Given the description of an element on the screen output the (x, y) to click on. 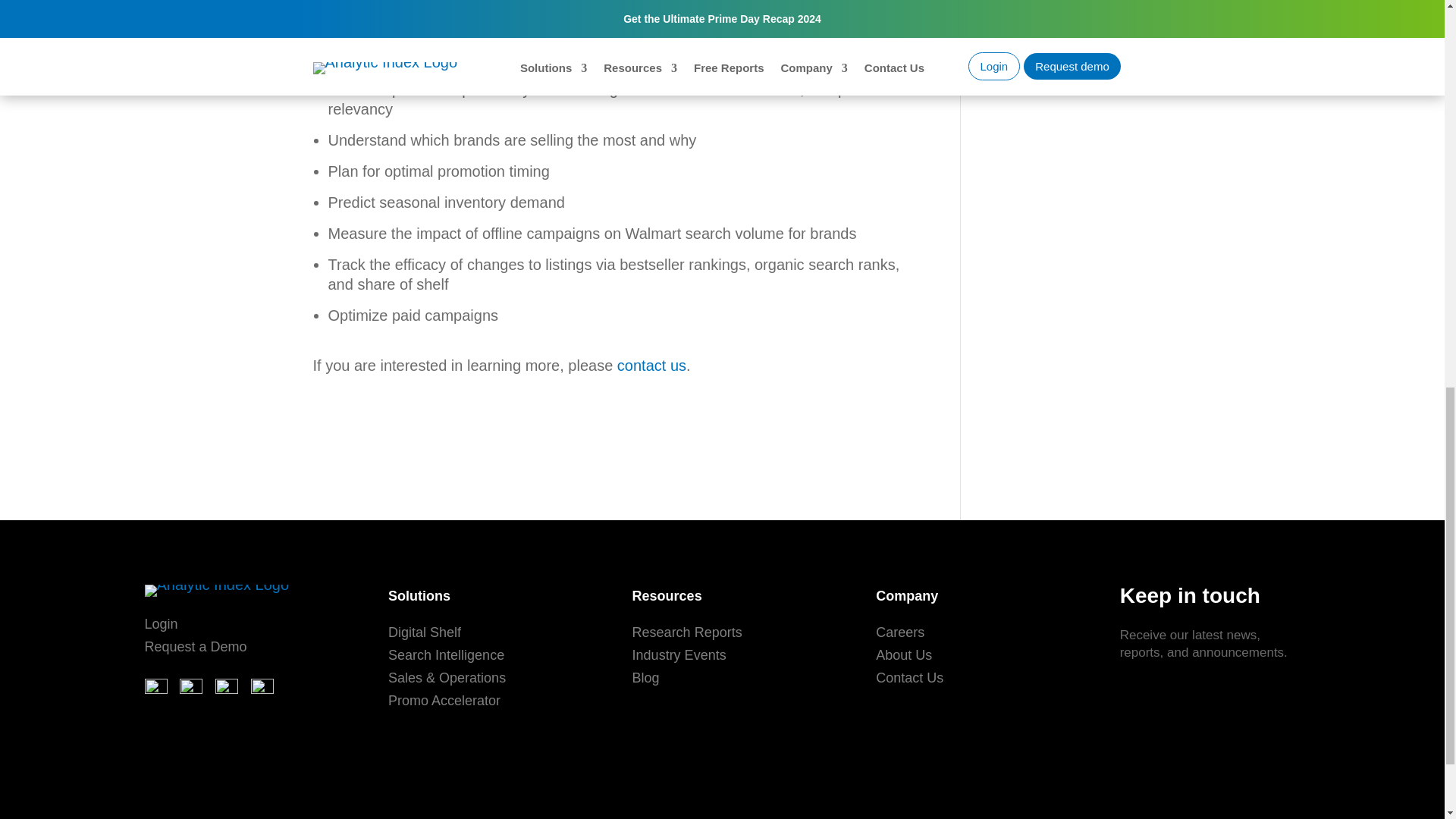
contact us (651, 365)
Analytic Index Logo (216, 590)
